Given the description of an element on the screen output the (x, y) to click on. 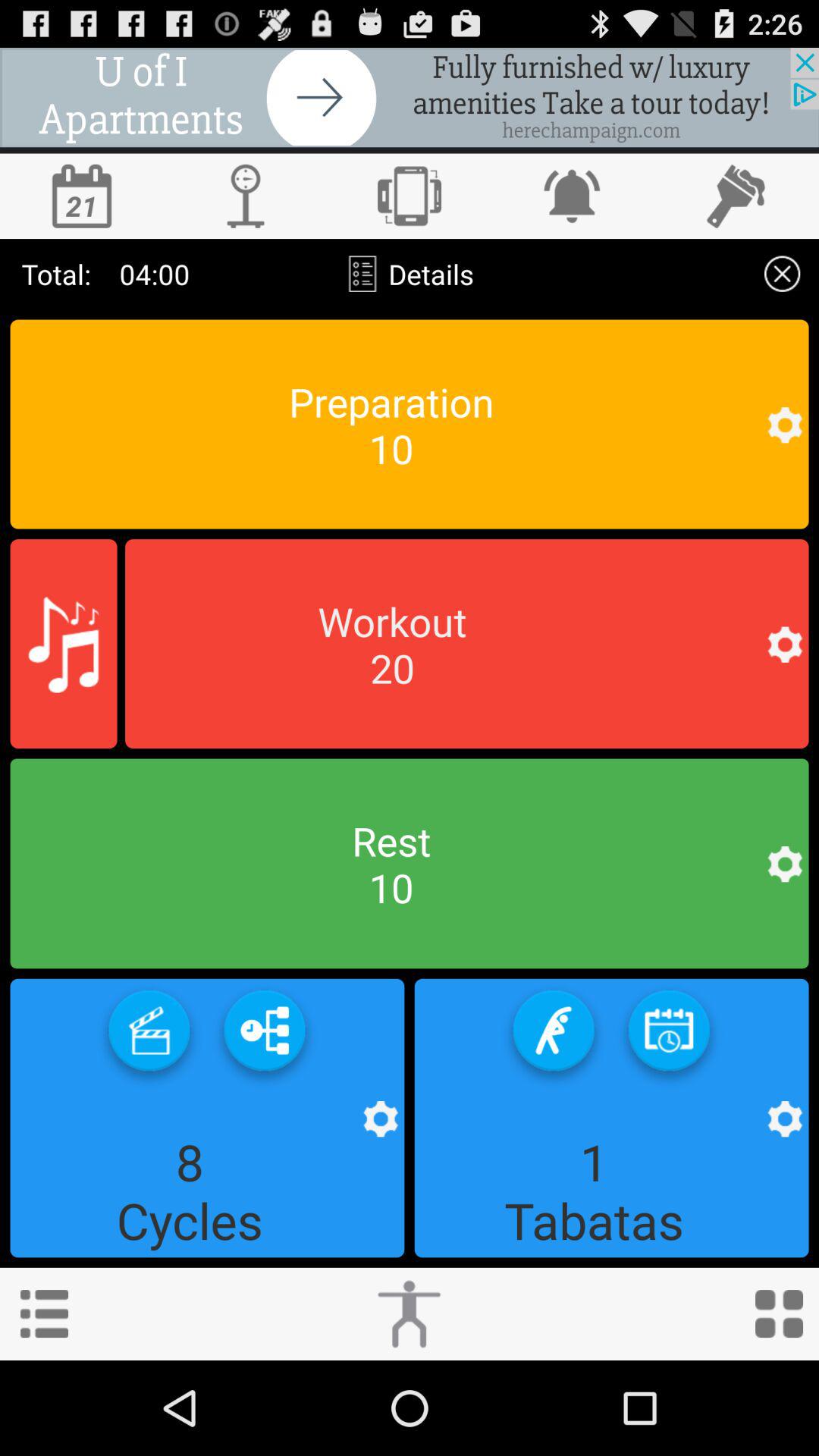
change date (81, 195)
